Given the description of an element on the screen output the (x, y) to click on. 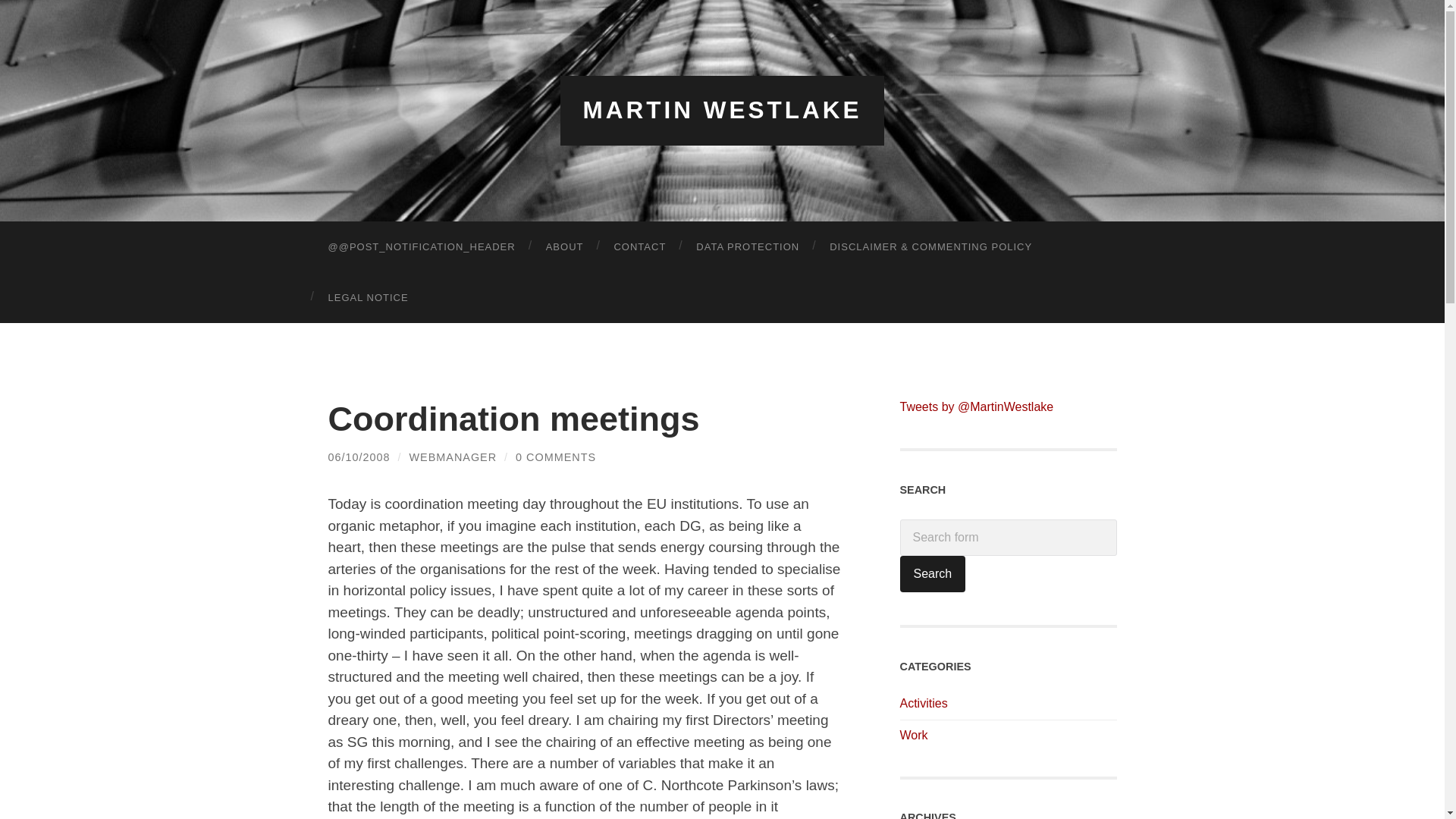
Search (932, 574)
WEBMANAGER (453, 456)
Posts by Webmanager (453, 456)
CONTACT (639, 246)
MARTIN WESTLAKE (721, 109)
Coordination meetings (512, 417)
Coordination meetings (358, 456)
LEGAL NOTICE (368, 296)
Activities (923, 703)
Search (932, 574)
